Given the description of an element on the screen output the (x, y) to click on. 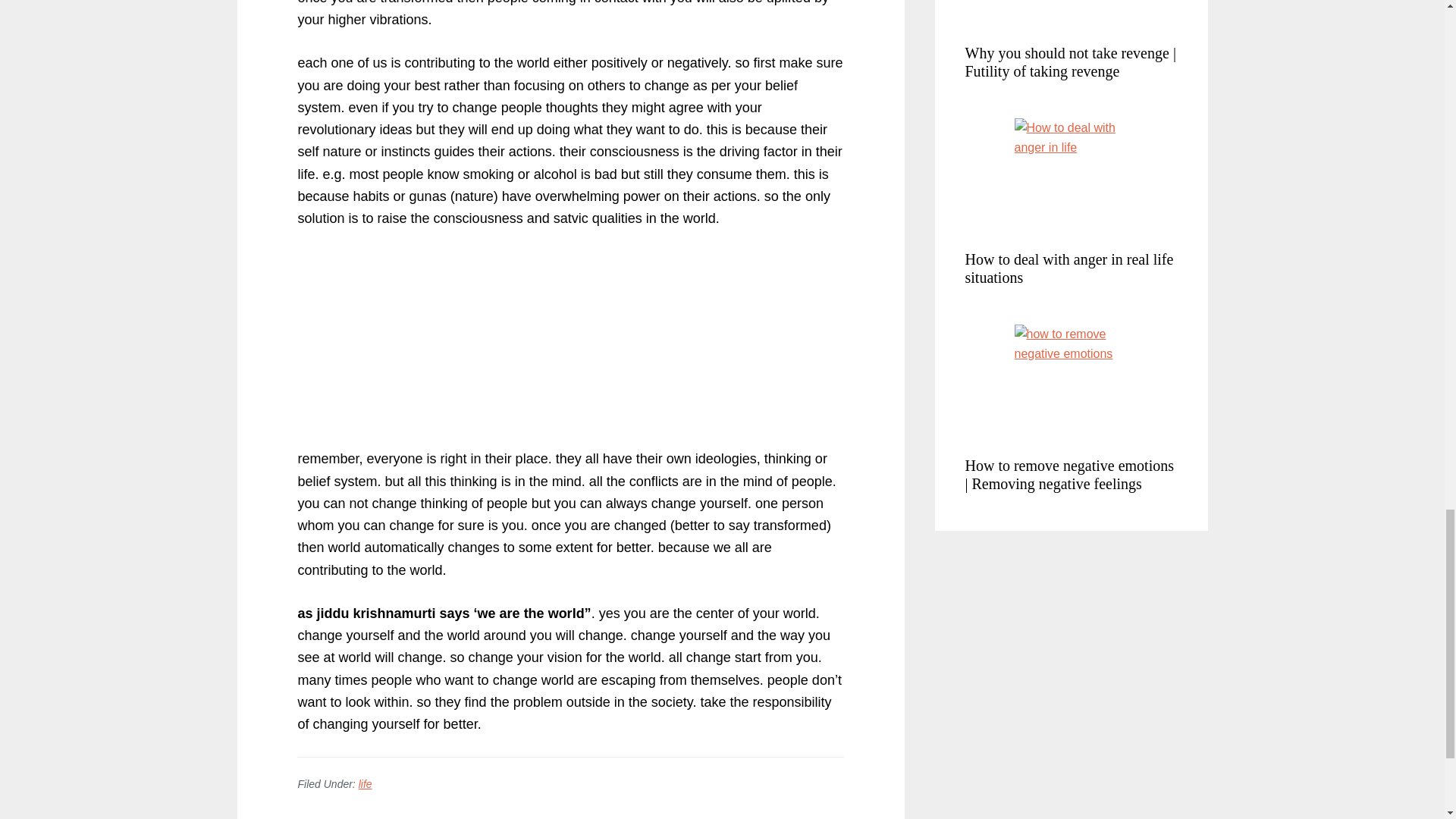
How to deal with anger in real life situations (1068, 267)
life (365, 784)
